Given the description of an element on the screen output the (x, y) to click on. 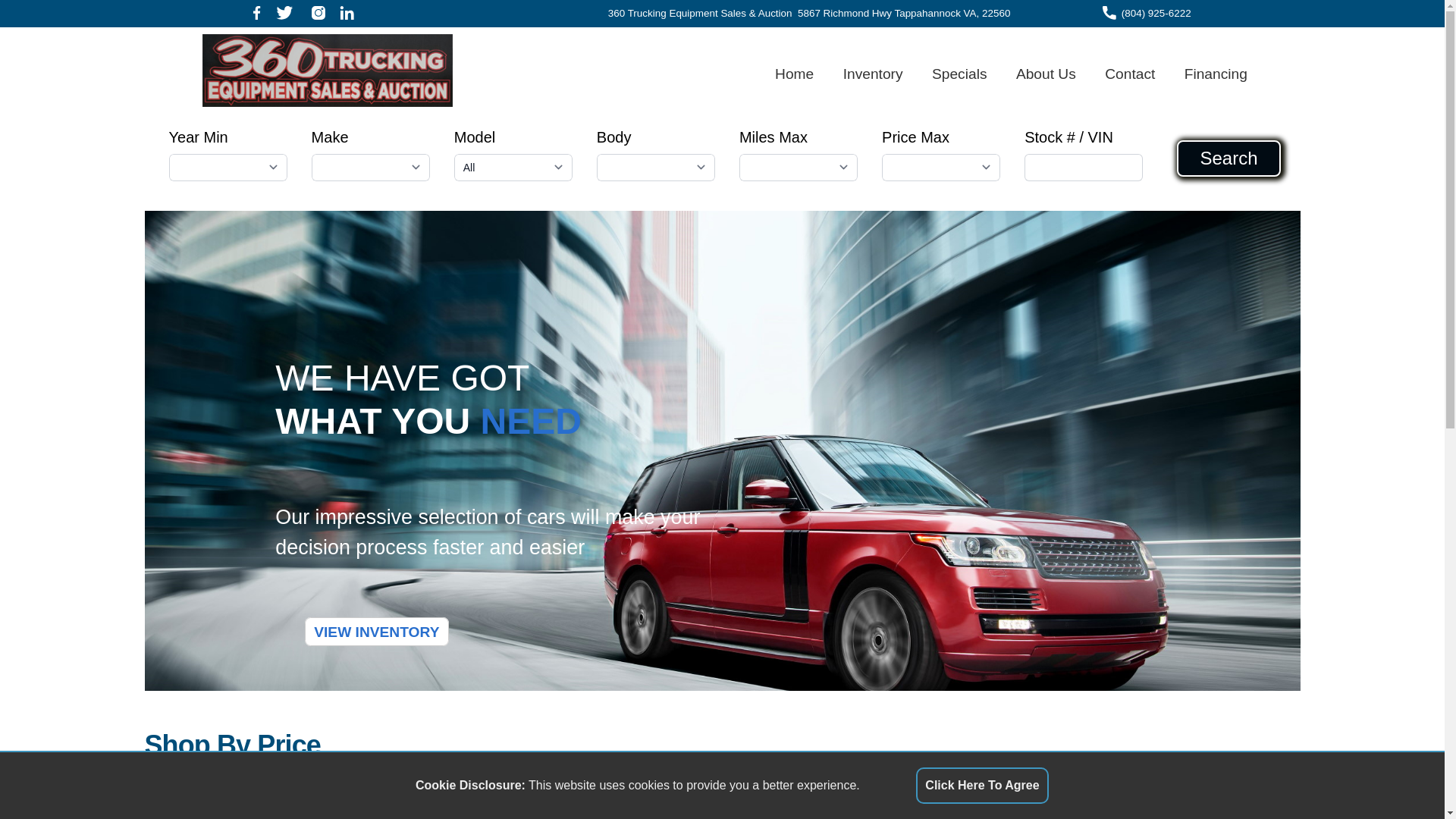
Contact Element type: text (1092, 89)
About Us Element type: text (1007, 89)
(804) 925-6222 Element type: text (1156, 13)
Close Element type: text (697, 169)
Inventory Element type: text (834, 89)
Financing Element type: text (1178, 89)
Specials Element type: text (921, 89)
Dealer Login Element type: text (721, 766)
VIEW INVENTORY Element type: text (245, 223)
Home Element type: text (756, 89)
Terms of Service Element type: text (1262, 588)
5867 Richmond Hwy Tappahannock VA, 22560 Element type: text (903, 13)
Search Element type: text (649, 165)
About Us Element type: text (1247, 602)
Contact Us Element type: text (1251, 616)
Privacy Policy Element type: text (1257, 631)
Search Element type: text (1261, 89)
  Element type: text (346, 13)
  Element type: text (317, 13)
sales@360truckingequipmentsales.com Element type: text (676, 658)
